Given the description of an element on the screen output the (x, y) to click on. 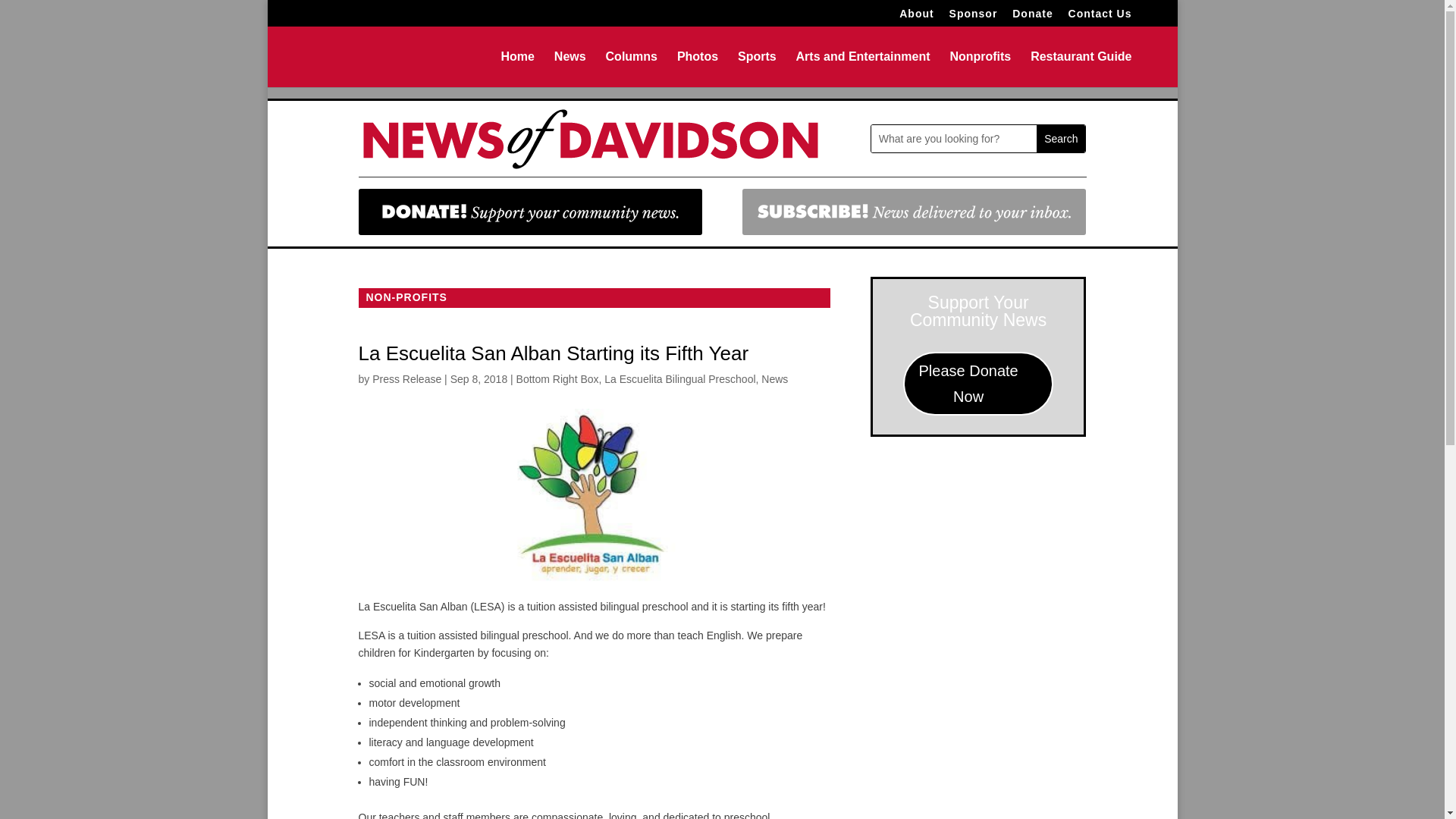
About (916, 16)
Sports (757, 68)
News (774, 378)
DonateButton-01 (529, 212)
Donate (1031, 16)
Search (1060, 138)
Search (1060, 138)
La Escuelita Bilingual Preschool (679, 378)
Home (517, 68)
Contact Us (1100, 16)
